Given the description of an element on the screen output the (x, y) to click on. 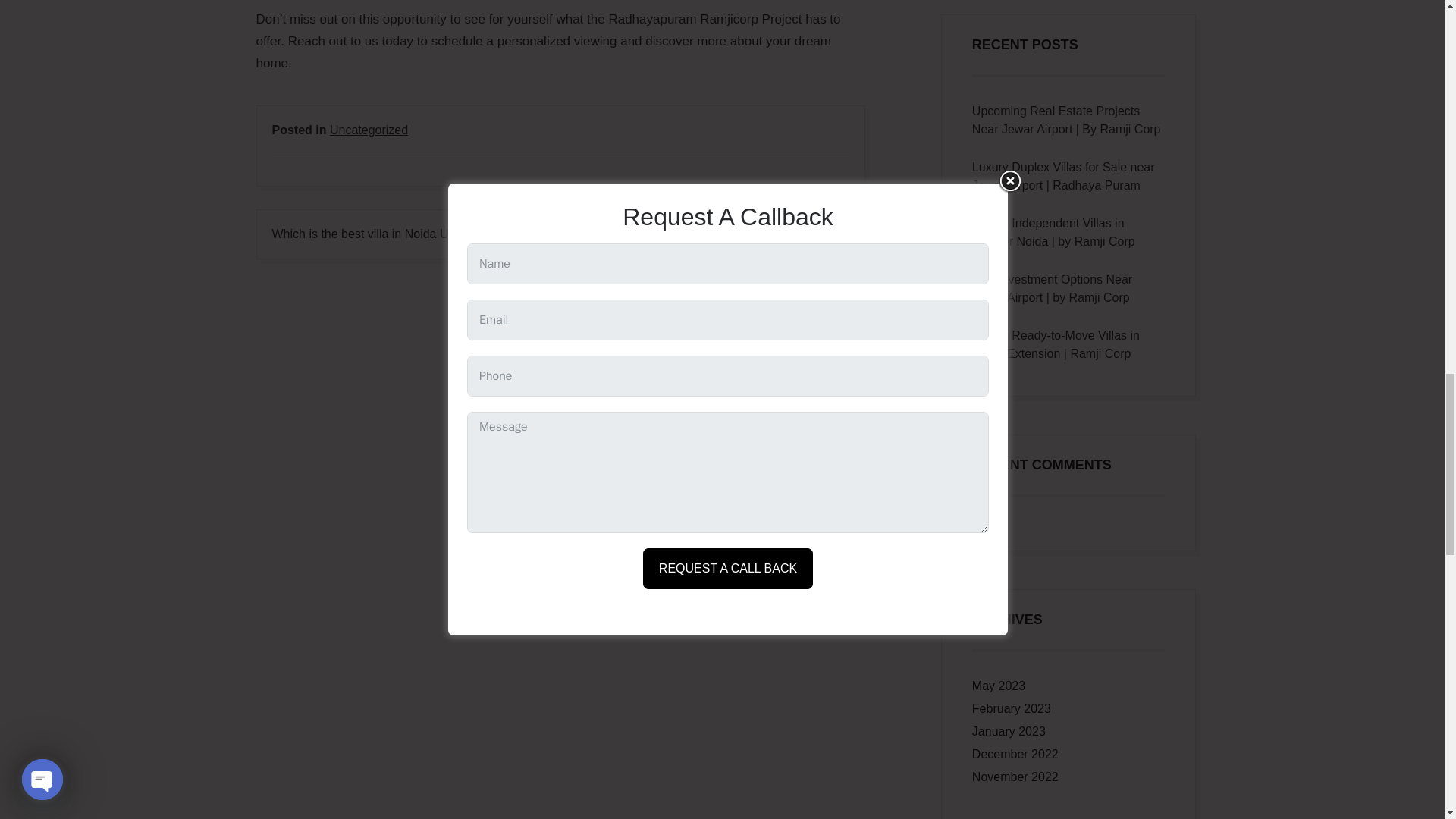
Uncategorized (368, 129)
best villa projects in noida (779, 233)
Which is the best villa in Noida Under 50 Lakhs? (400, 233)
